Given the description of an element on the screen output the (x, y) to click on. 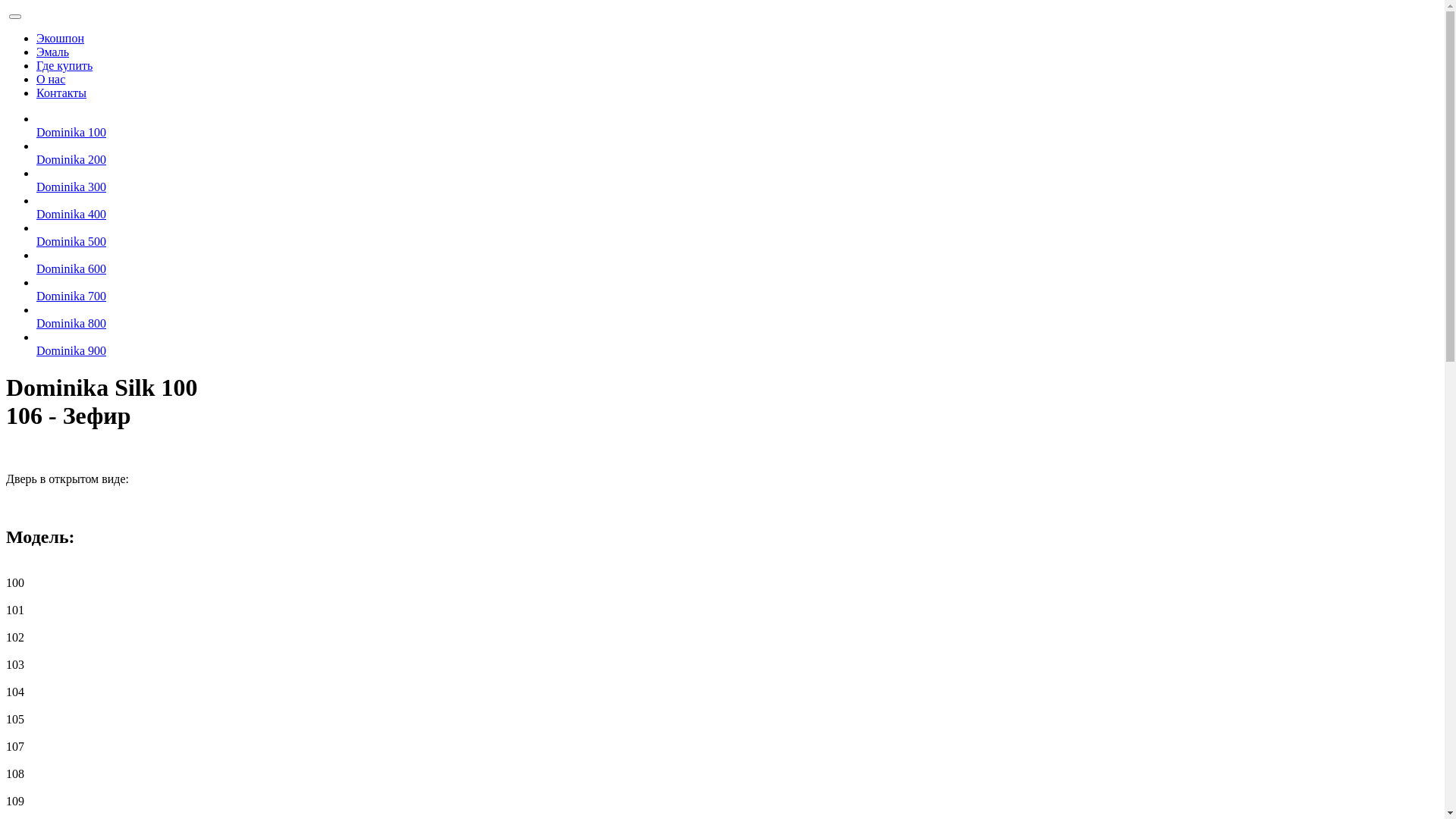
Dominika 700 Element type: text (71, 295)
Dominika 600 Element type: text (71, 268)
Dominika 900 Element type: text (71, 350)
Dominika 800 Element type: text (71, 322)
Dominika 500 Element type: text (71, 241)
Dominika 400 Element type: text (71, 213)
Dominika 200 Element type: text (71, 159)
Dominika 100 Element type: text (71, 131)
Dominika 300 Element type: text (71, 186)
